Given the description of an element on the screen output the (x, y) to click on. 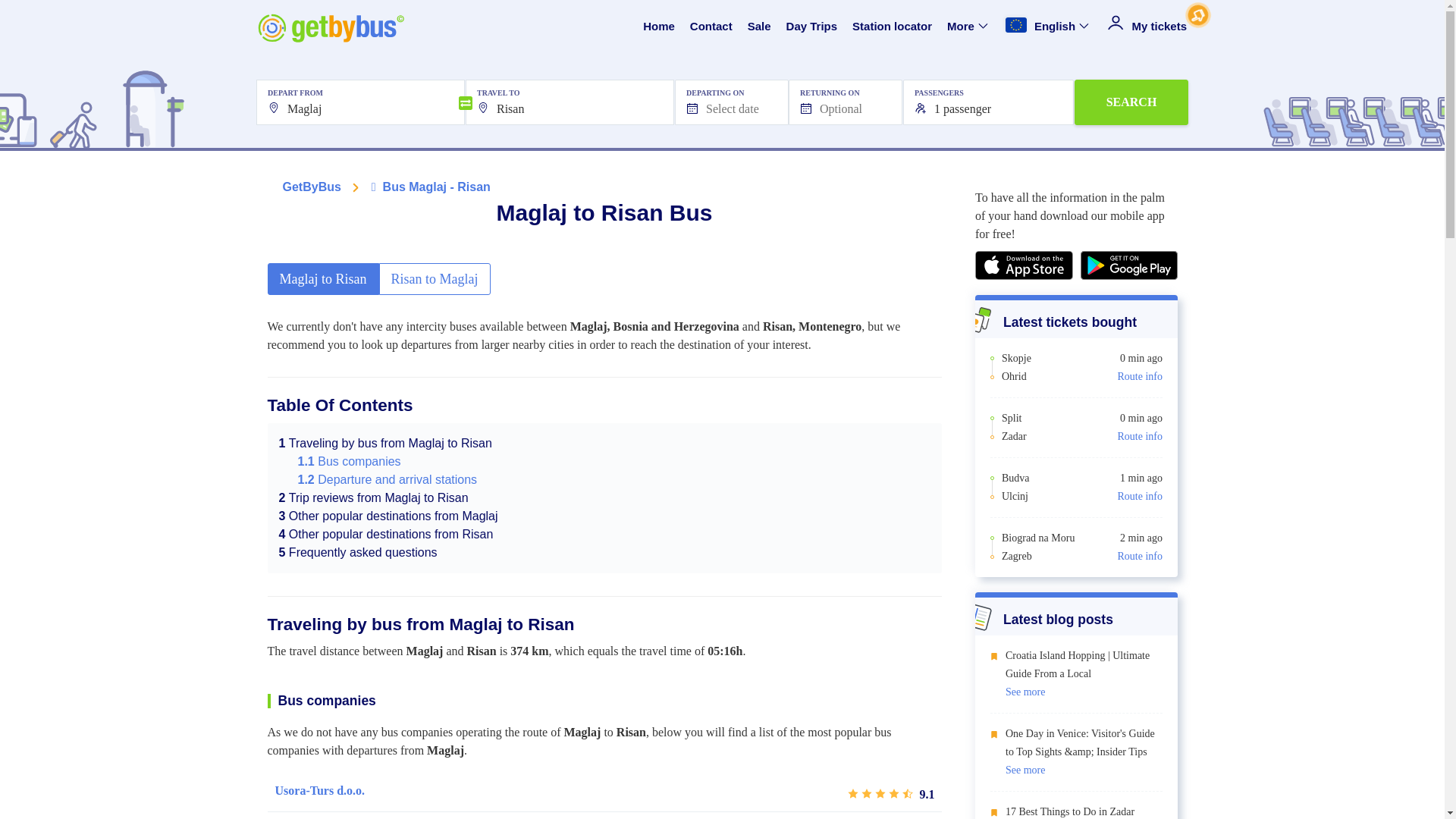
Trip reviews from Maglaj to Risan (373, 497)
1 passenger (988, 102)
Traveling by bus from Maglaj to Risan (385, 442)
Maglaj (360, 102)
Day Trips (812, 26)
SEARCH (1131, 102)
GetByBus (311, 186)
 GetByBus (311, 186)
Station locator (891, 26)
 My tickets (1146, 26)
